Given the description of an element on the screen output the (x, y) to click on. 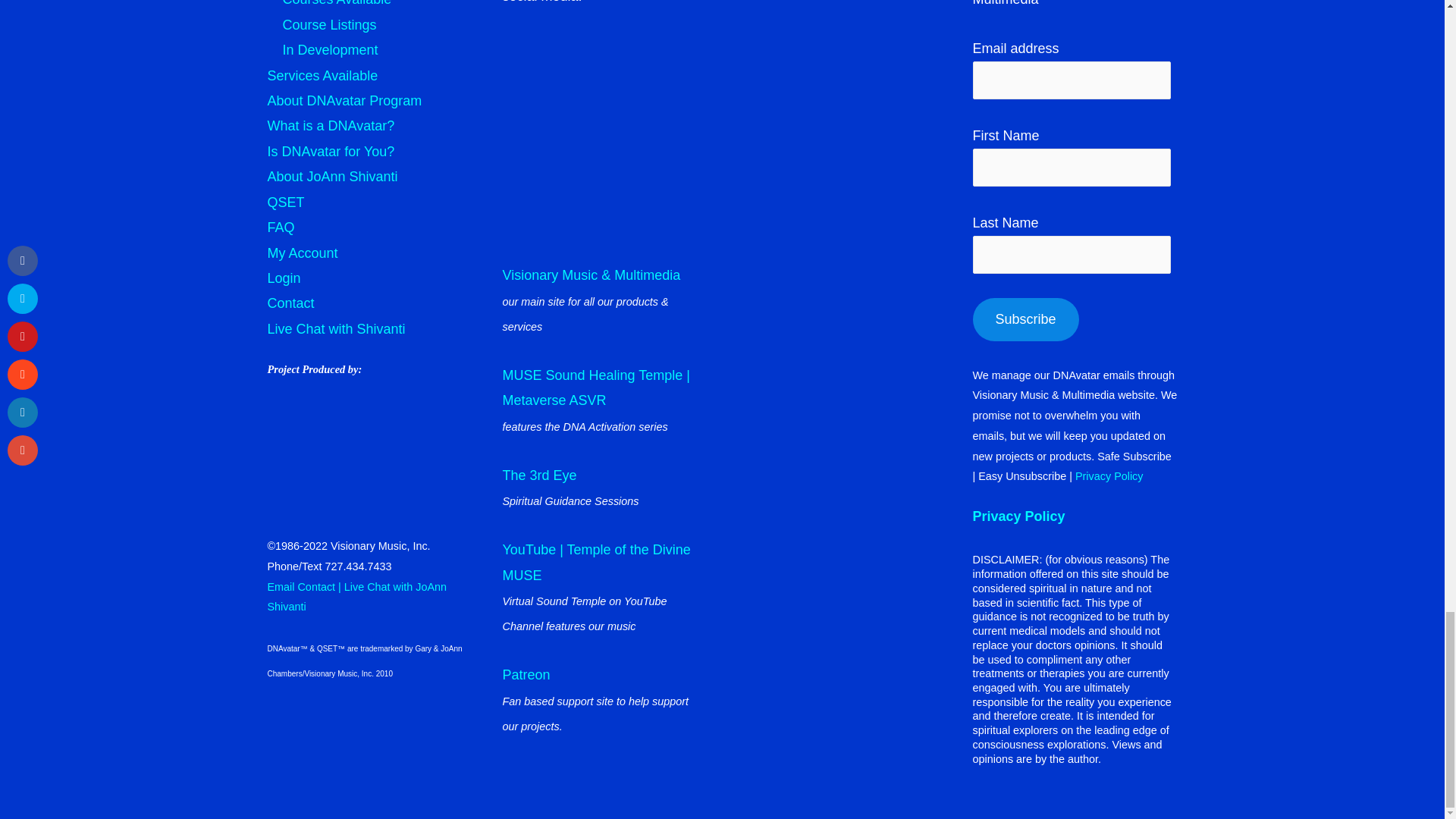
Course Listings (328, 24)
Courses Available (336, 3)
Subscribe (1025, 319)
In Development (329, 49)
